Given the description of an element on the screen output the (x, y) to click on. 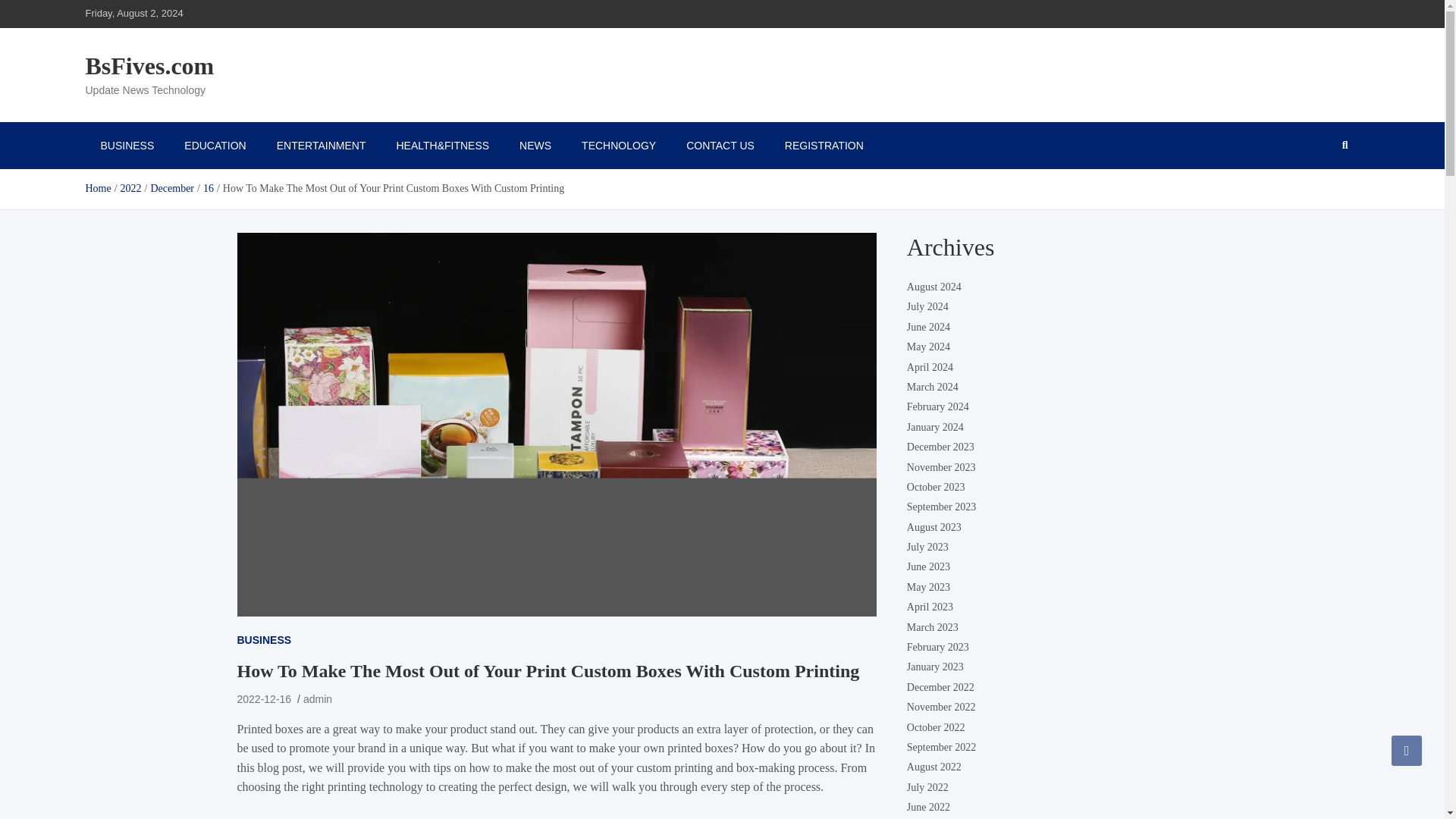
2022-12-16 (263, 698)
August 2024 (933, 286)
ENTERTAINMENT (321, 145)
December 2023 (940, 446)
May 2024 (928, 346)
March 2024 (932, 387)
January 2024 (935, 427)
16 (208, 188)
BUSINESS (263, 639)
November 2023 (941, 467)
BUSINESS (126, 145)
February 2024 (938, 407)
2022 (130, 188)
June 2024 (928, 326)
